Given the description of an element on the screen output the (x, y) to click on. 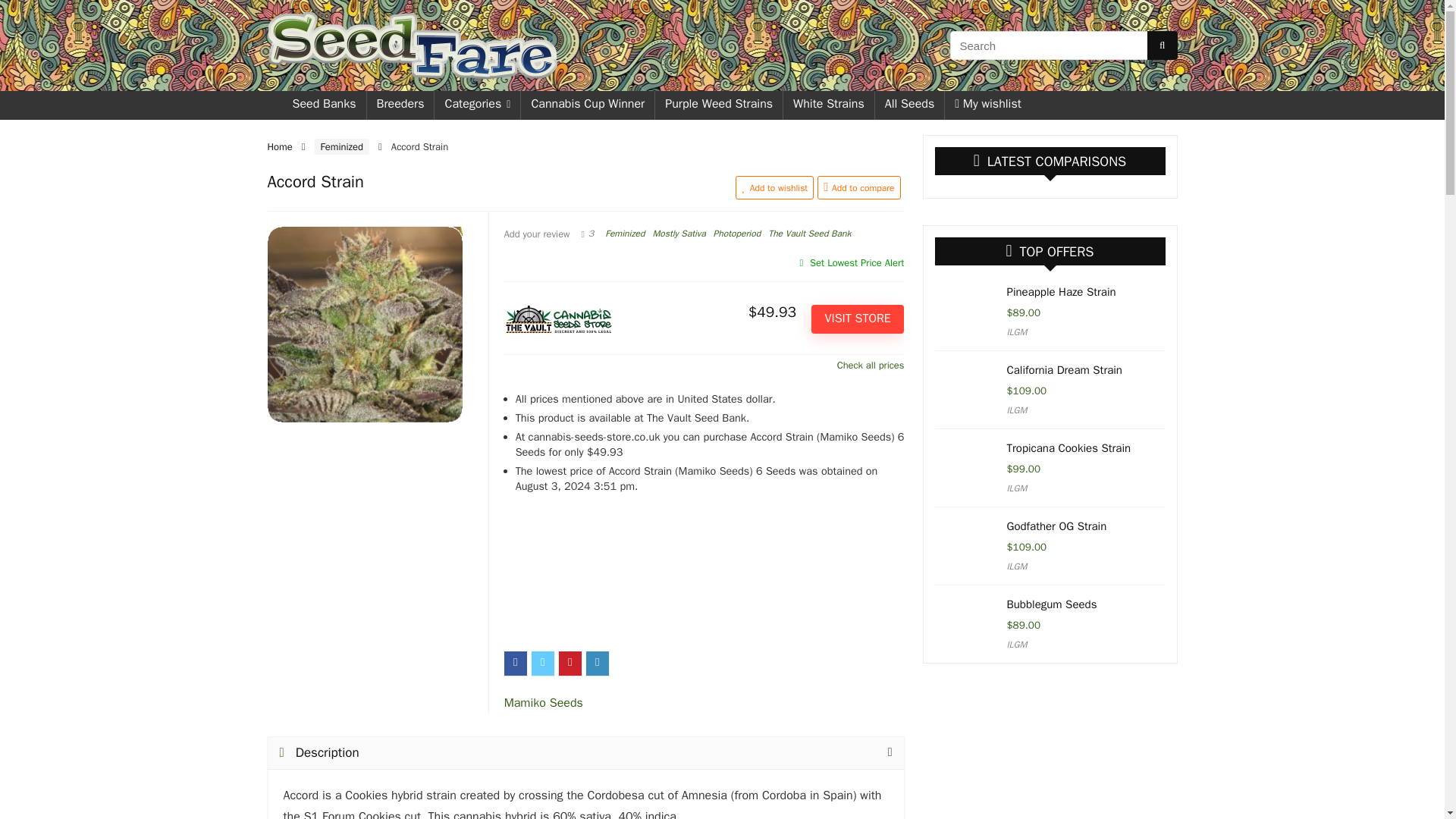
Mamiko Seeds (543, 702)
View all posts in Mostly Sativa (678, 233)
VISIT STORE (857, 318)
Home (279, 146)
Add your review (536, 234)
Breeders (399, 104)
Categories (476, 104)
Seed Banks (323, 104)
Cannabis Cup Winner (587, 104)
All Seeds (909, 104)
White Strains (829, 104)
Mostly Sativa (678, 233)
Feminized (625, 233)
Check all prices (703, 364)
View brand (543, 702)
